Given the description of an element on the screen output the (x, y) to click on. 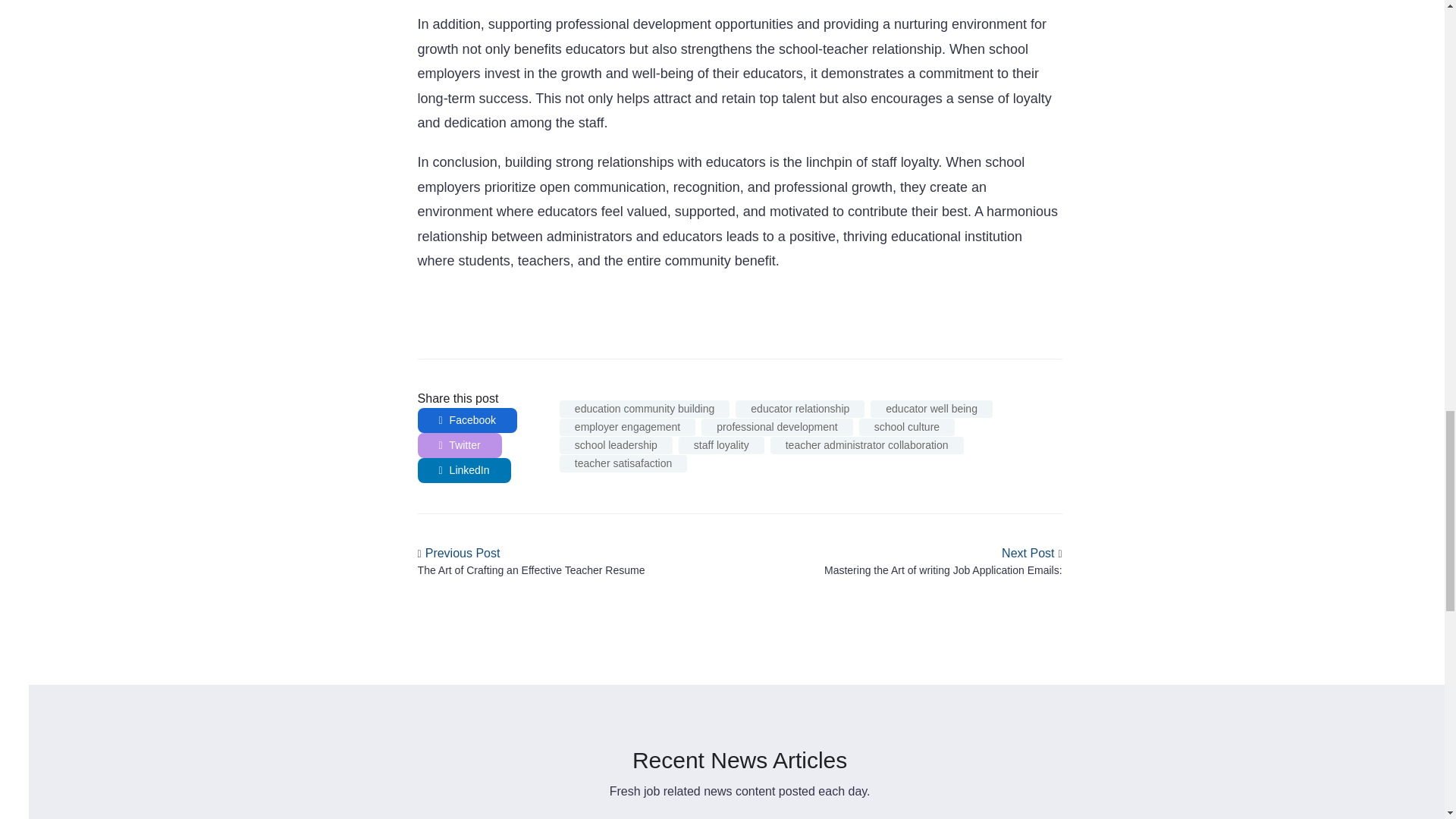
educator relationship (799, 408)
teacher administrator collaboration (866, 445)
school leadership (615, 445)
professional development (777, 426)
school culture (907, 426)
Facebook (467, 420)
education community building (644, 408)
LinkedIn (464, 470)
teacher satisafaction (623, 463)
employer engagement (627, 426)
staff loyality (721, 445)
educator well being (931, 408)
Twitter (459, 445)
